Given the description of an element on the screen output the (x, y) to click on. 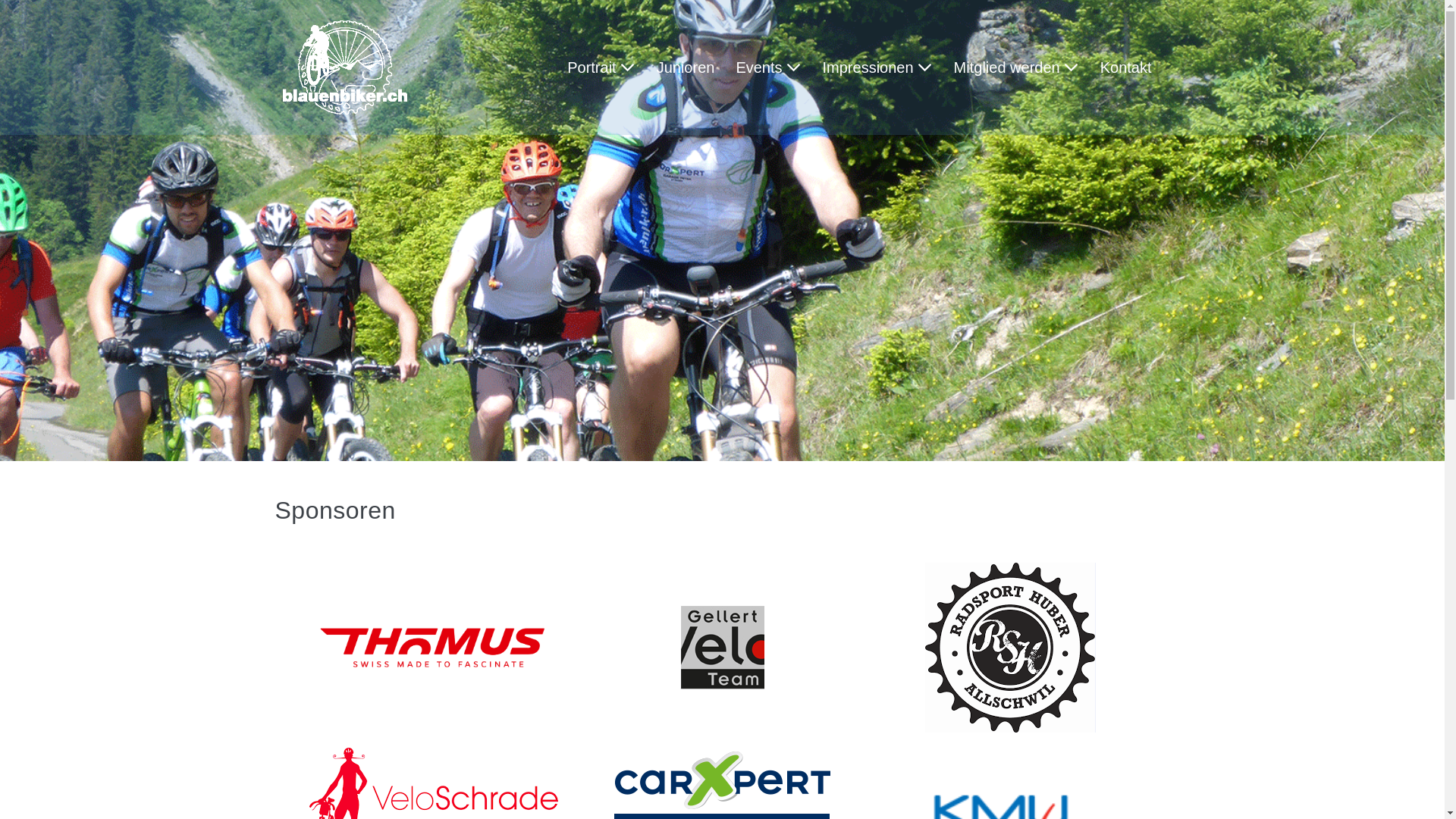
Update Blauenbiker Element type: hover (344, 67)
Portrait Element type: text (600, 67)
Mitglied werden Element type: text (1016, 67)
Impressionen Element type: text (877, 67)
Junioren Element type: text (685, 67)
Kontakt Element type: text (1125, 67)
Events Element type: text (767, 67)
